Given the description of an element on the screen output the (x, y) to click on. 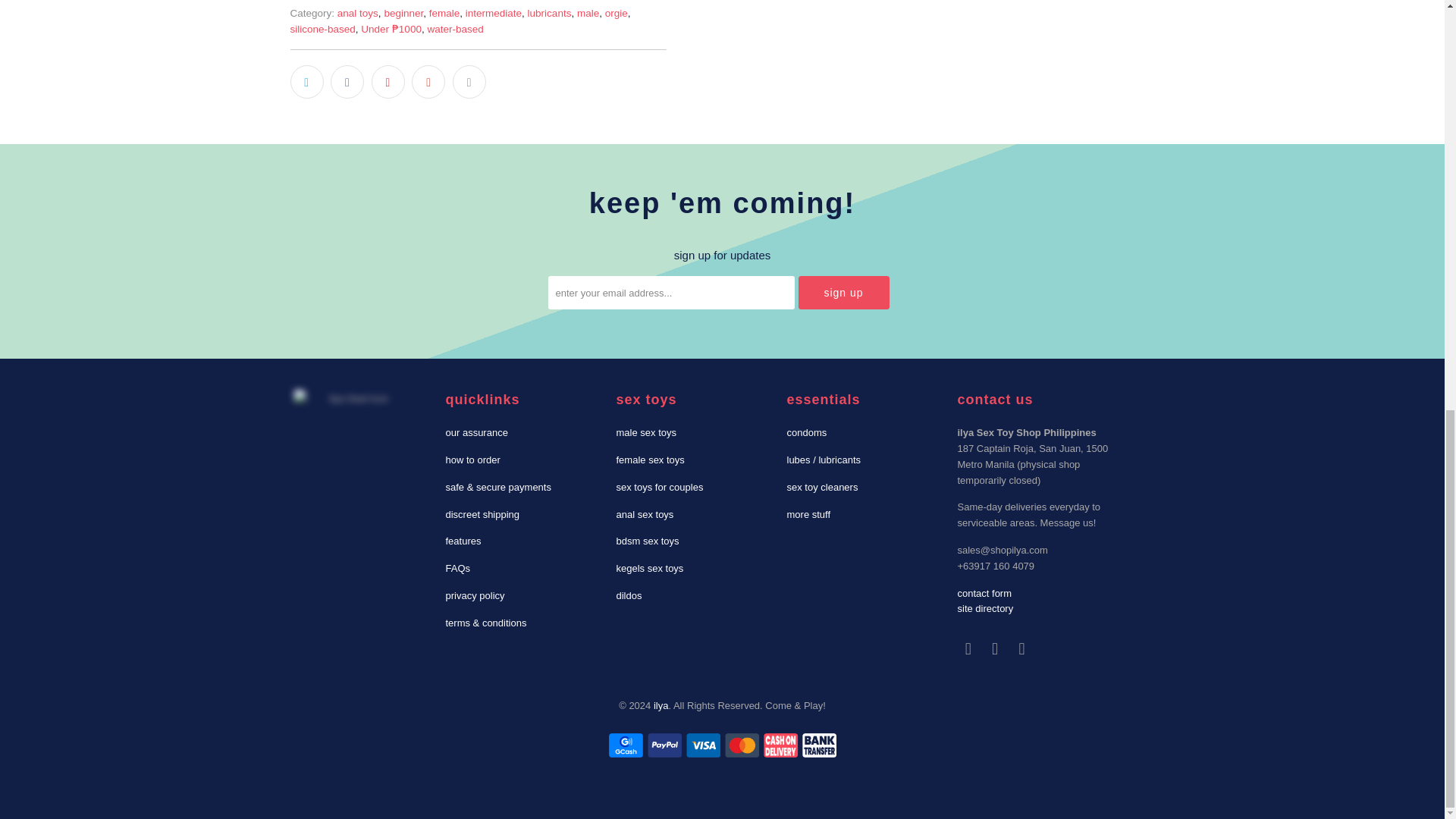
Share this on Facebook (347, 81)
Products tagged lubricants (549, 12)
Share this on Twitter (306, 81)
Products tagged water-based (454, 29)
Products tagged intermediate (493, 12)
Products tagged orgie (616, 12)
Products tagged silicone-based (322, 29)
Products tagged male (587, 12)
Products tagged beginner (403, 12)
Products tagged anal toys (357, 12)
Products tagged female (444, 12)
Share this on Pinterest (387, 81)
Sign Up (842, 292)
